Given the description of an element on the screen output the (x, y) to click on. 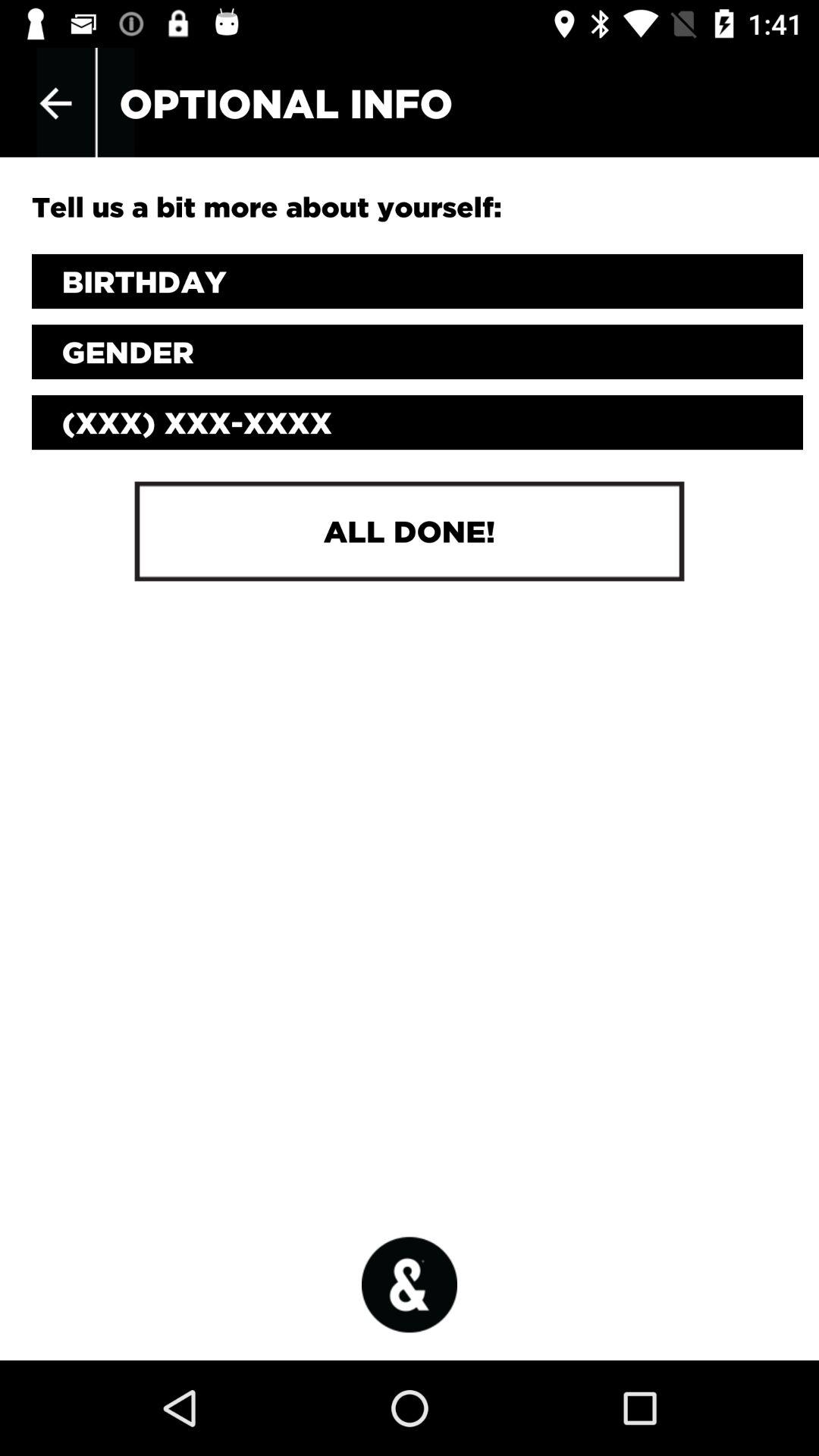
turn on item next to optional info icon (55, 103)
